Given the description of an element on the screen output the (x, y) to click on. 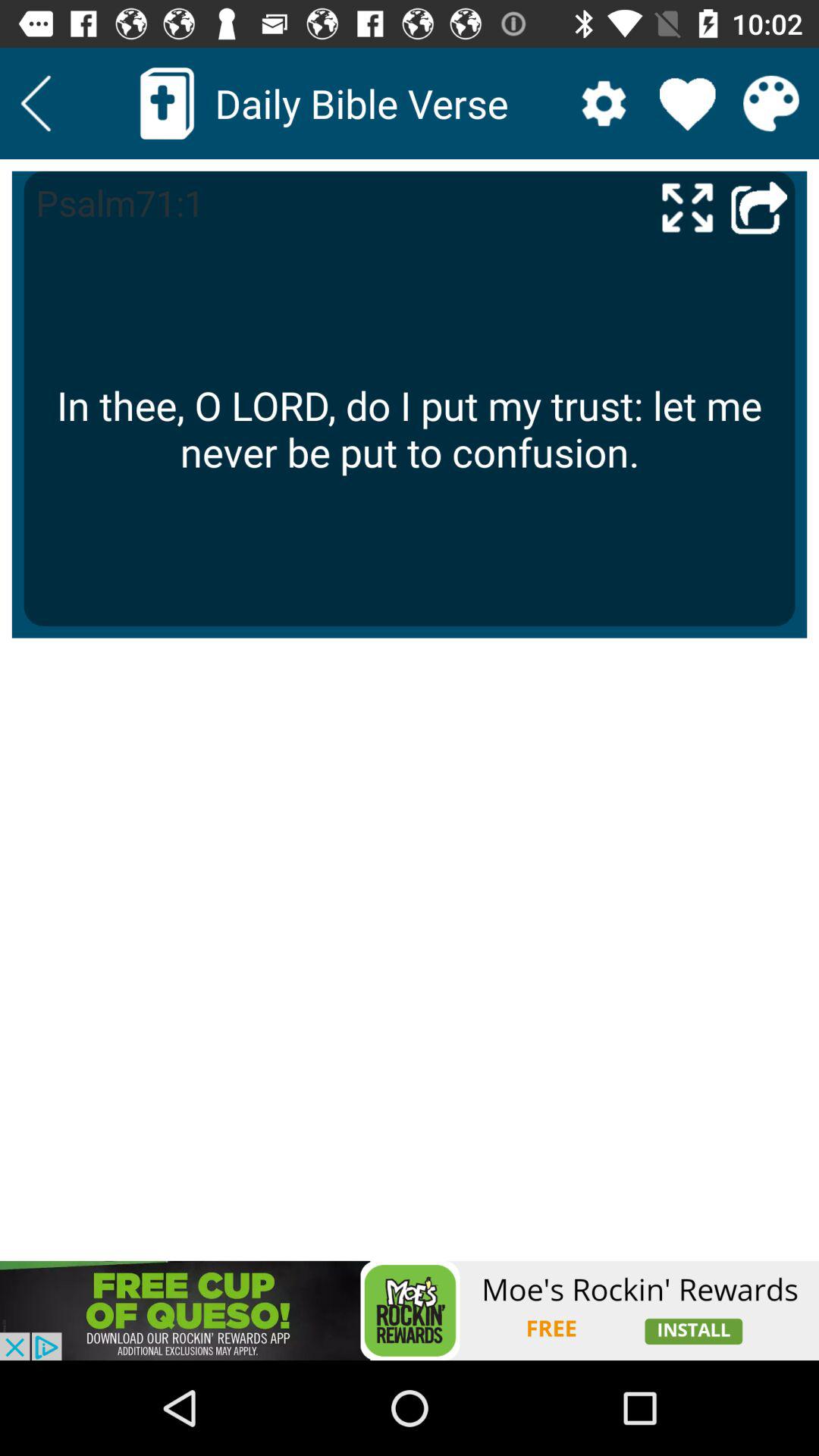
share (759, 206)
